Given the description of an element on the screen output the (x, y) to click on. 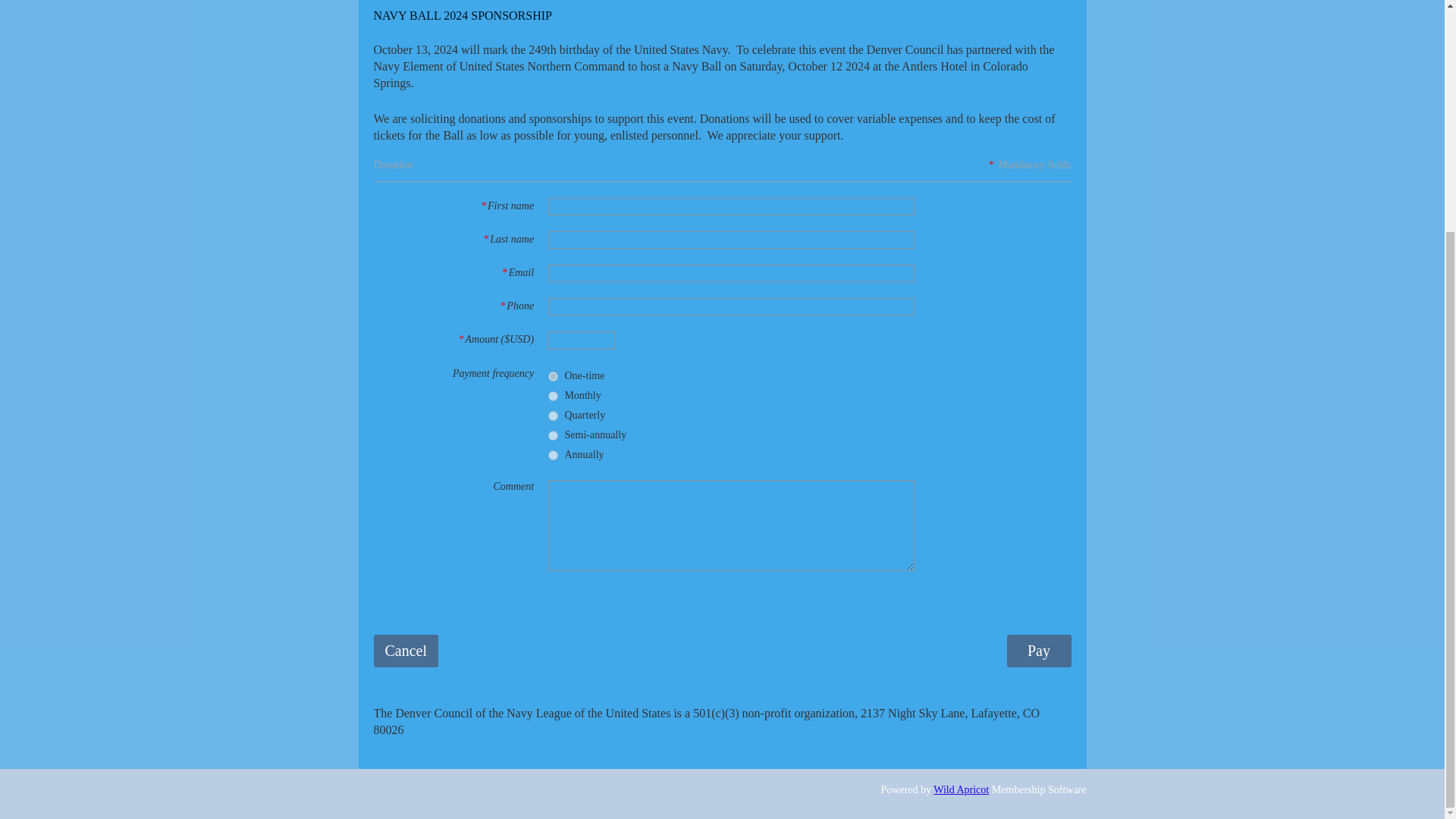
listItem014215720 (552, 376)
Wild Apricot (960, 789)
Cancel (405, 650)
listItem414215720 (552, 435)
listItem814215720 (552, 455)
Pay (1039, 650)
listItem214215720 (552, 415)
listItem114215720 (552, 396)
Pay (1039, 650)
